Given the description of an element on the screen output the (x, y) to click on. 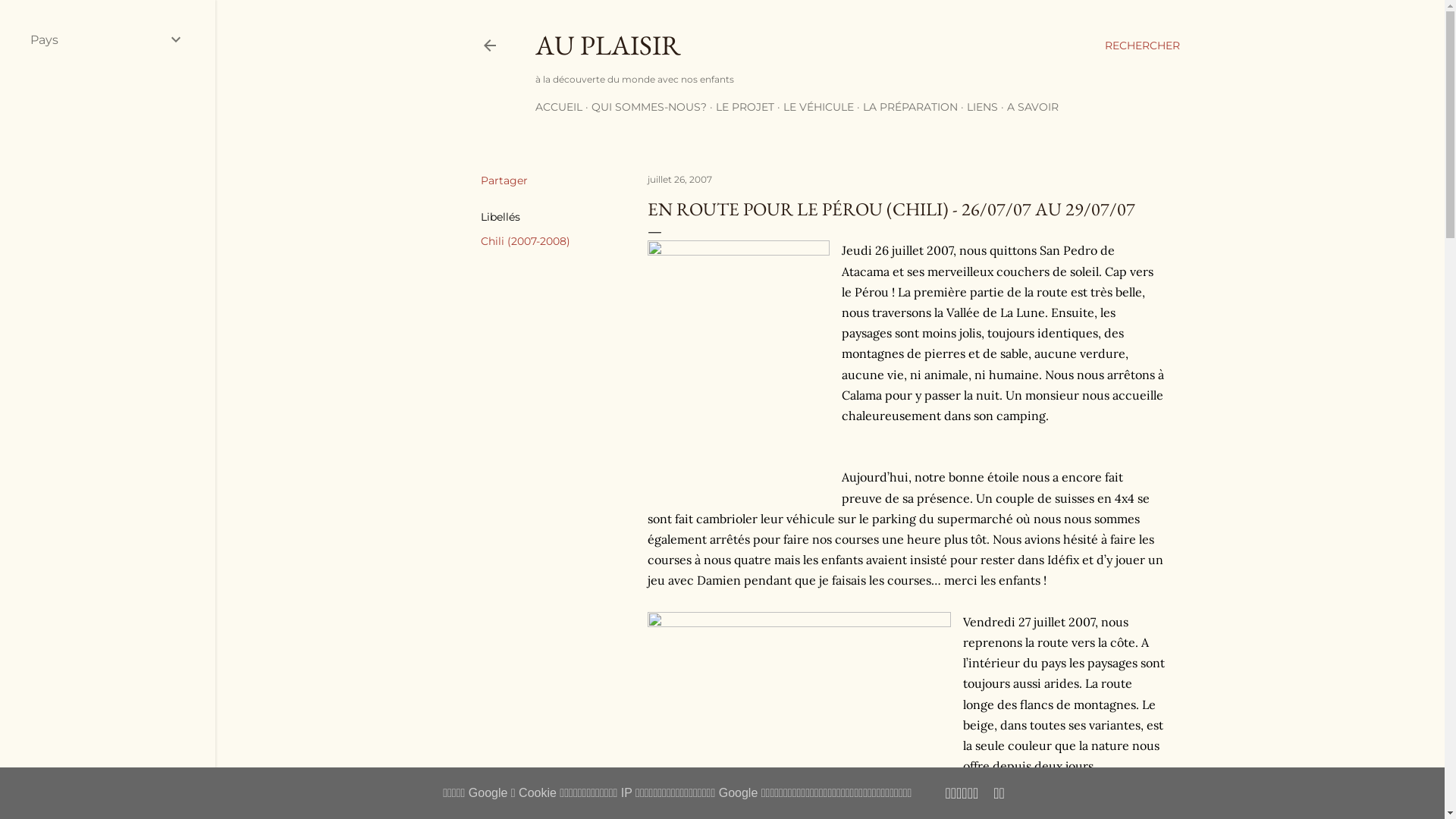
LE PROJET Element type: text (744, 106)
QUI SOMMES-NOUS? Element type: text (648, 106)
juillet 26, 2007 Element type: text (679, 179)
Partager Element type: text (503, 180)
LIENS Element type: text (981, 106)
A SAVOIR Element type: text (1032, 106)
ACCUEIL Element type: text (558, 106)
Chili (2007-2008) Element type: text (525, 240)
AU PLAISIR Element type: text (607, 44)
RECHERCHER Element type: text (1141, 45)
